Given the description of an element on the screen output the (x, y) to click on. 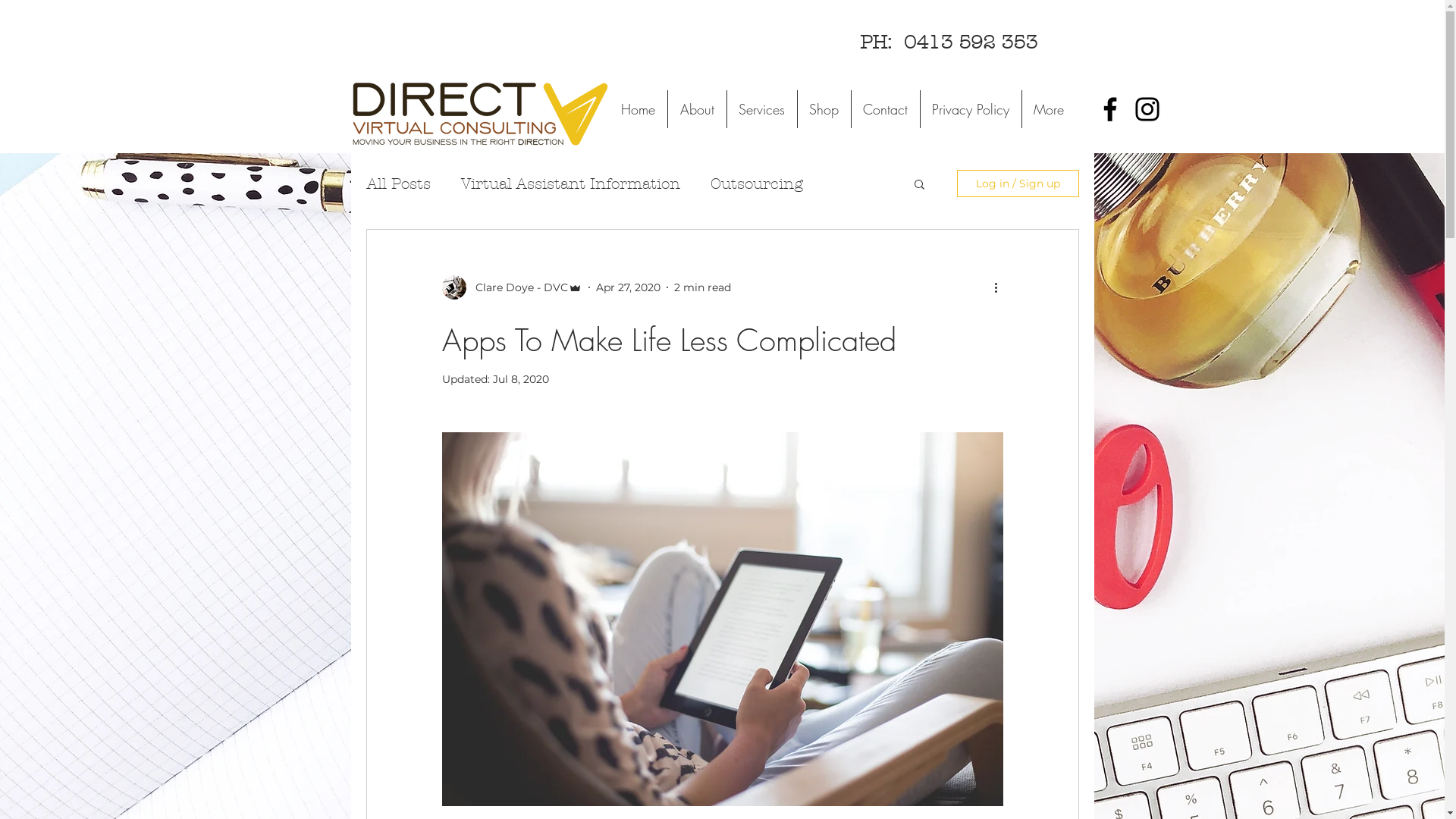
Services Element type: text (761, 109)
Outsourcing Element type: text (755, 182)
Shop Element type: text (823, 109)
Log in / Sign up Element type: text (1018, 183)
Home Element type: text (637, 109)
About Element type: text (696, 109)
Virtual Assistant Information Element type: text (570, 182)
Contact Element type: text (884, 109)
Privacy Policy Element type: text (969, 109)
All Posts Element type: text (397, 182)
